Given the description of an element on the screen output the (x, y) to click on. 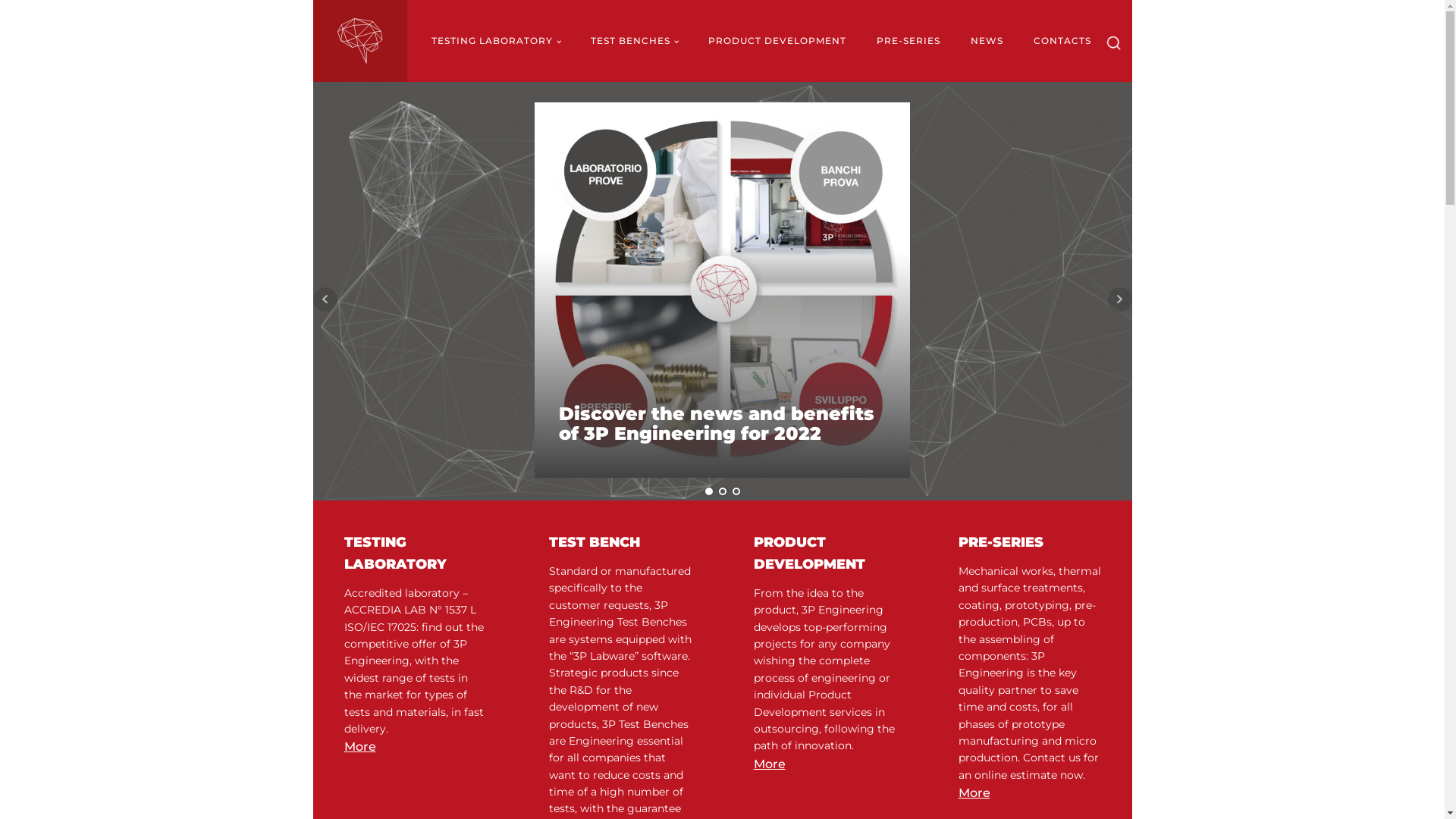
PRE-SERIES Element type: text (908, 40)
Next Element type: text (1119, 299)
PRODUCT DEVELOPMENT Element type: text (777, 40)
NEWS Element type: text (986, 40)
More Element type: text (974, 793)
More Element type: text (360, 746)
Discover the news and benefits of 3P Engineering for 2022 Element type: text (721, 424)
TESTING LABORATORY Element type: text (494, 40)
More Element type: text (769, 764)
TEST BENCHES Element type: text (633, 40)
CONTACTS Element type: text (1062, 40)
Prev Element type: text (324, 299)
